Given the description of an element on the screen output the (x, y) to click on. 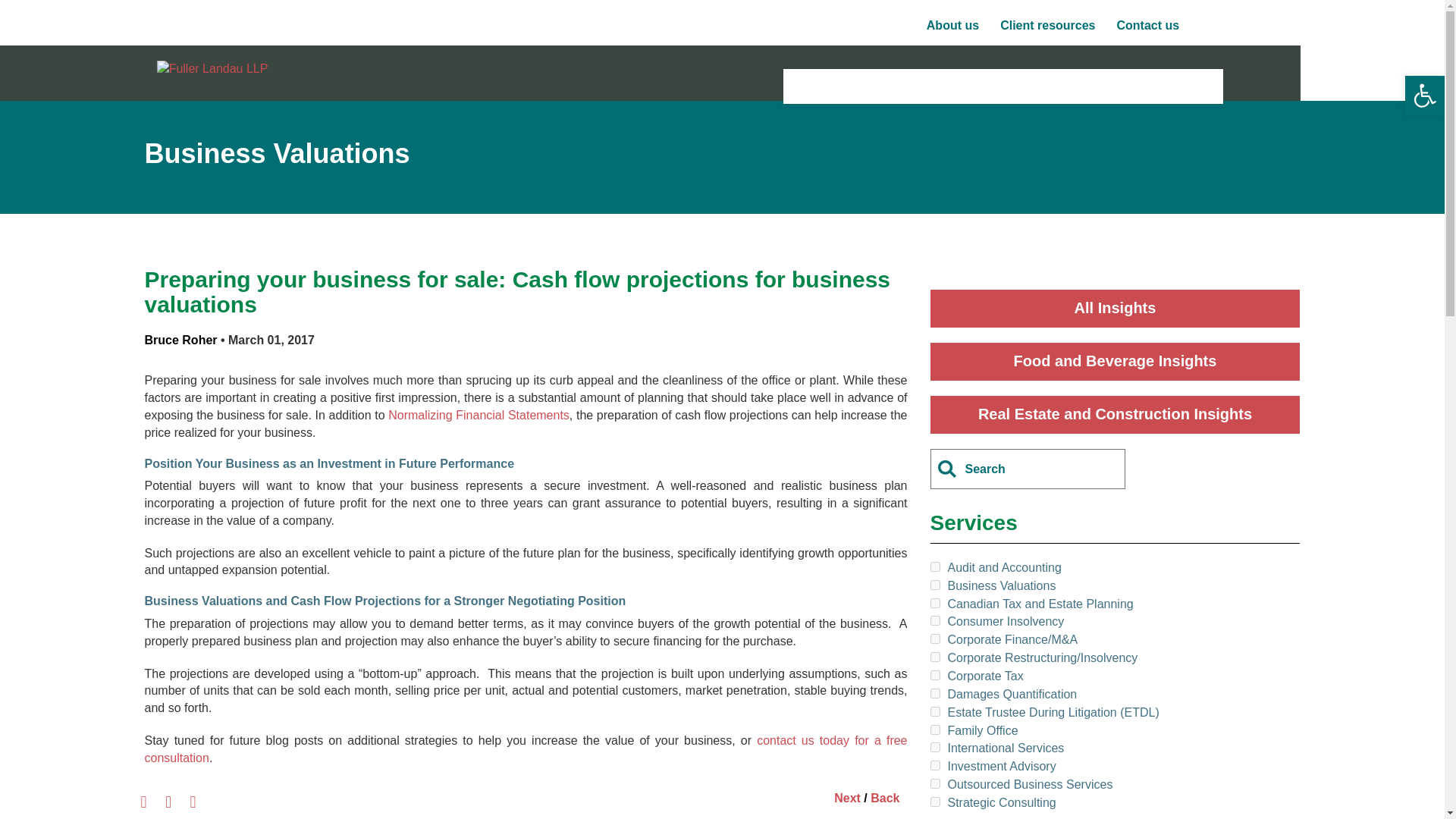
Accessibility Tools (1424, 95)
canadian-tax-and-estate-planning (934, 603)
estate-trustee-during-litigation-etdl (934, 711)
Services (844, 85)
consumer-insolvency (934, 620)
damages-quantification (934, 693)
international-services (934, 747)
Industries (949, 85)
Search (25, 11)
Client resources (1047, 25)
audit-and-accounting (934, 566)
corporate-restructuring-and-insolvency (934, 656)
family-office (934, 729)
outsourced-business-services (934, 783)
Search (1208, 26)
